Given the description of an element on the screen output the (x, y) to click on. 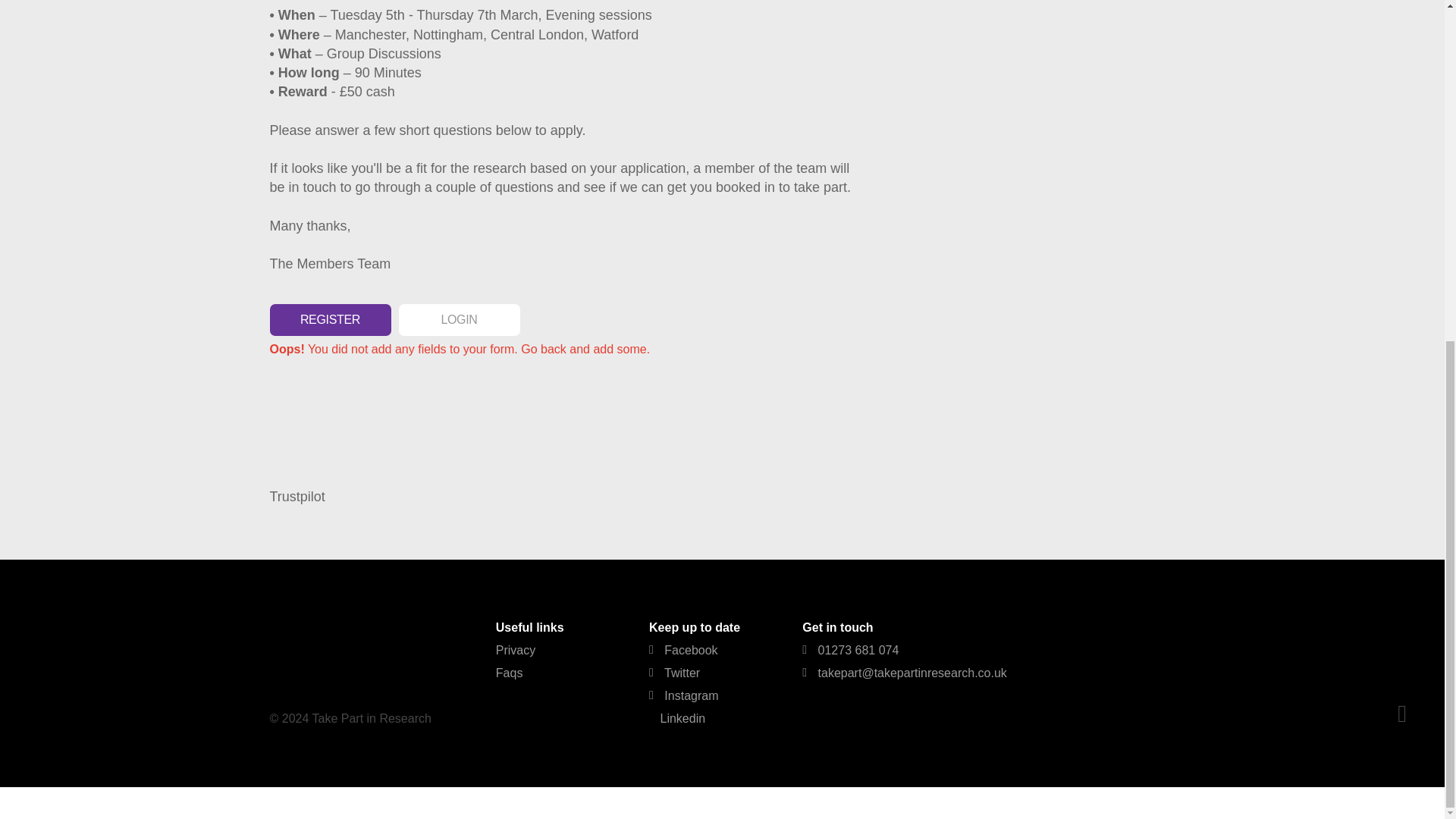
LOGIN (458, 319)
Twitter (674, 672)
Instagram (683, 695)
01273 681 074 (850, 649)
REGISTER (330, 319)
Go back (543, 349)
Facebook (683, 649)
Privacy (515, 649)
Faqs (509, 672)
Linkedin (676, 717)
Trustpilot (296, 496)
